Given the description of an element on the screen output the (x, y) to click on. 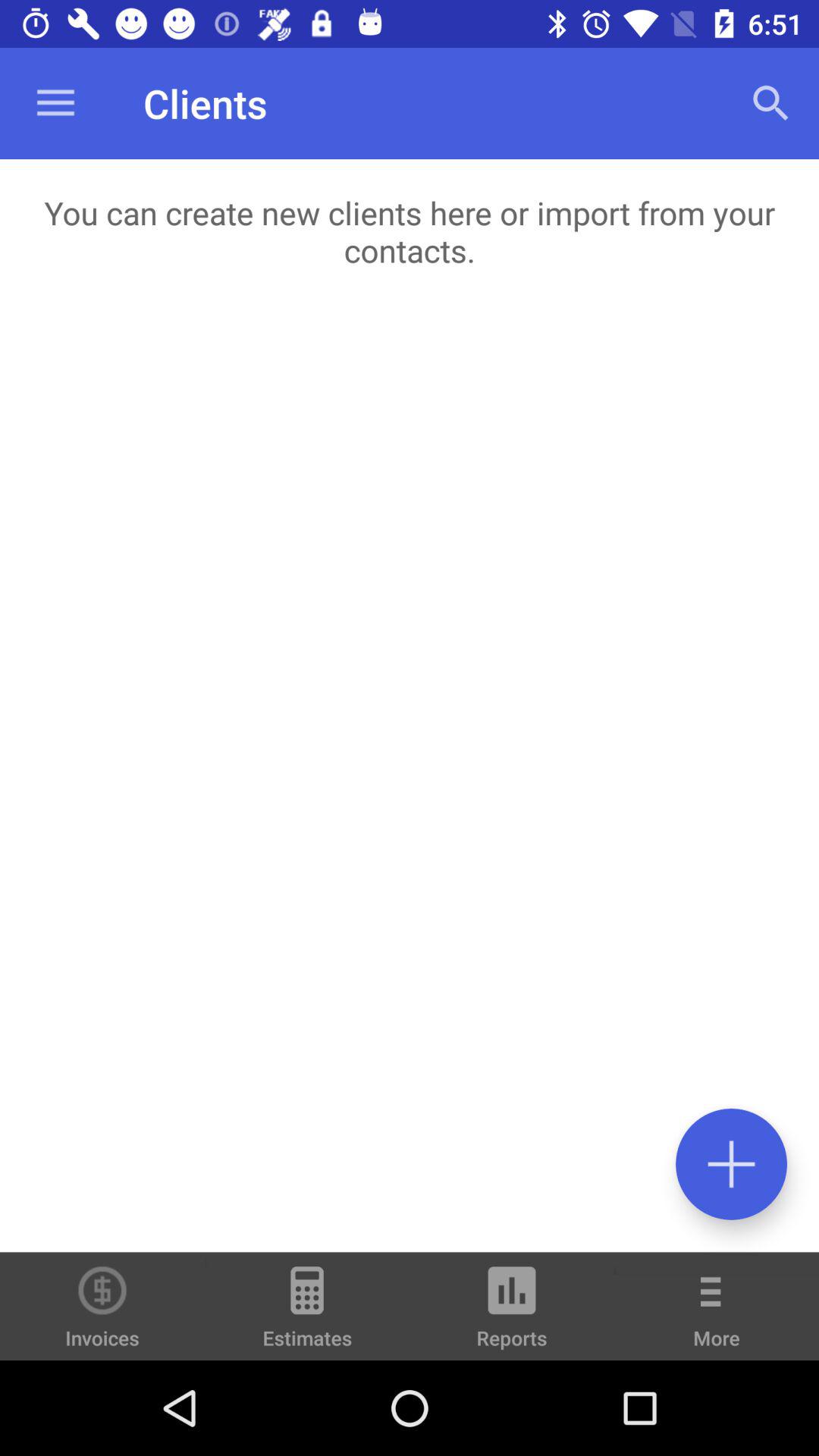
turn off icon to the left of the reports item (306, 1313)
